Given the description of an element on the screen output the (x, y) to click on. 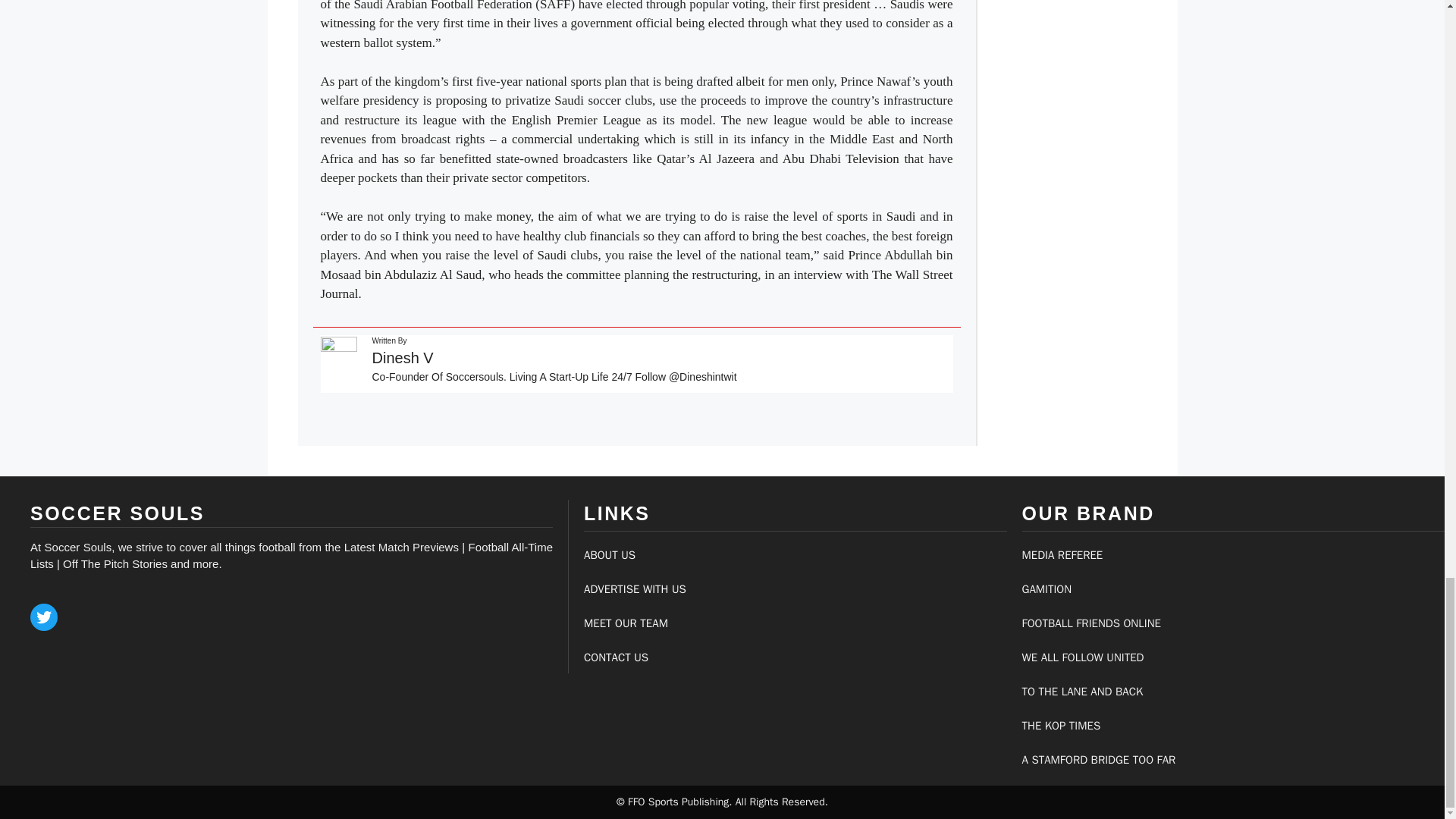
CONTACT US (615, 657)
THE KOP TIMES (1061, 725)
ADVERTISE WITH US (634, 589)
FOOTBALL FRIENDS ONLINE (1091, 622)
A STAMFORD BRIDGE TOO FAR (1099, 759)
Twitter (44, 616)
ABOUT US (608, 554)
MEET OUR TEAM (625, 622)
GAMITION (1046, 589)
WE ALL FOLLOW UNITED (1083, 657)
